Given the description of an element on the screen output the (x, y) to click on. 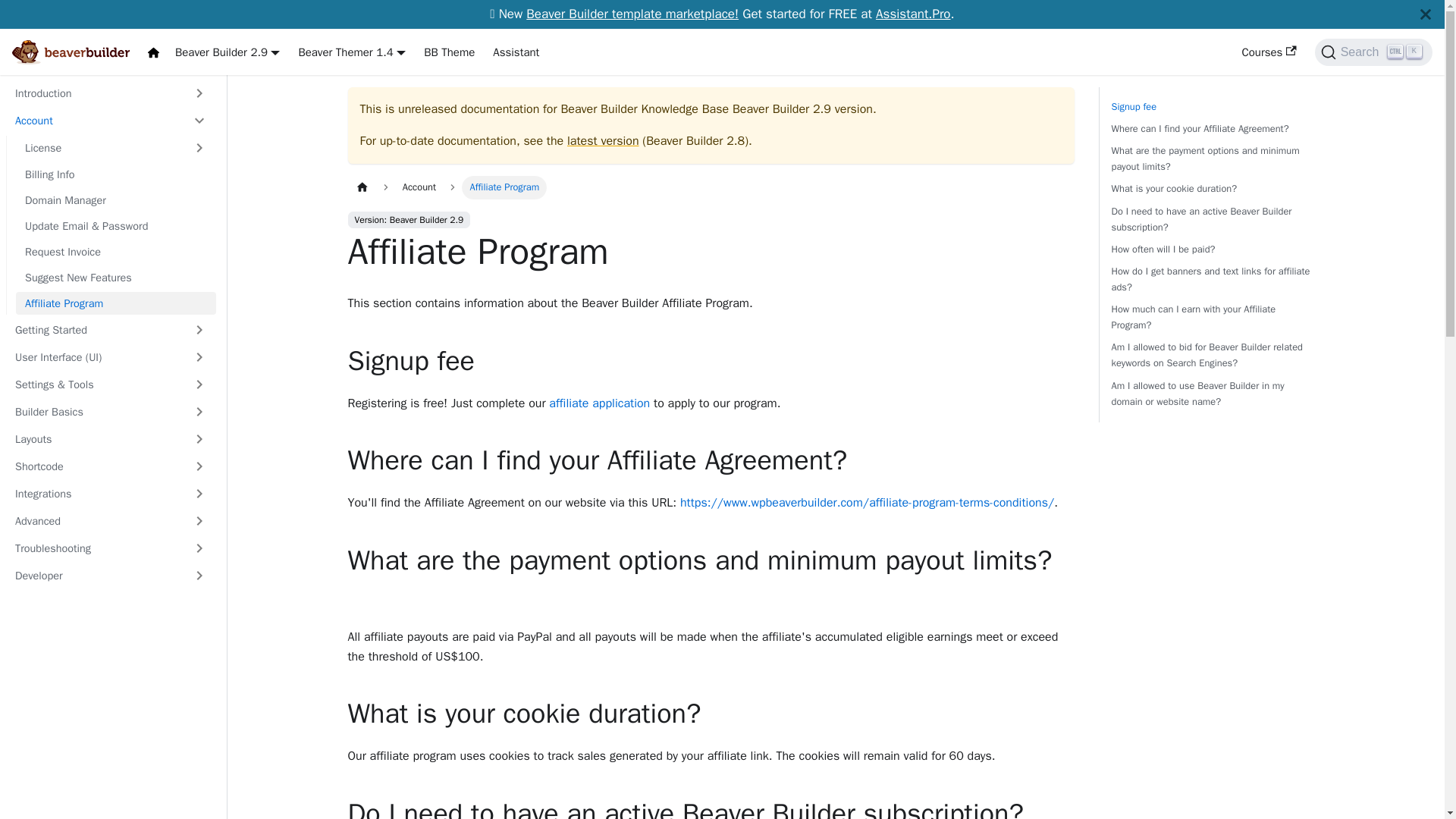
Courses (1267, 52)
Affiliate Program (115, 302)
Beaver Builder 2.9 (226, 51)
Suggest New Features (115, 277)
Assistant.Pro (913, 13)
Beaver Builder template marketplace! (631, 13)
Account (94, 120)
Domain Manager (115, 200)
Beaver Themer 1.4 (352, 51)
License (99, 147)
